Given the description of an element on the screen output the (x, y) to click on. 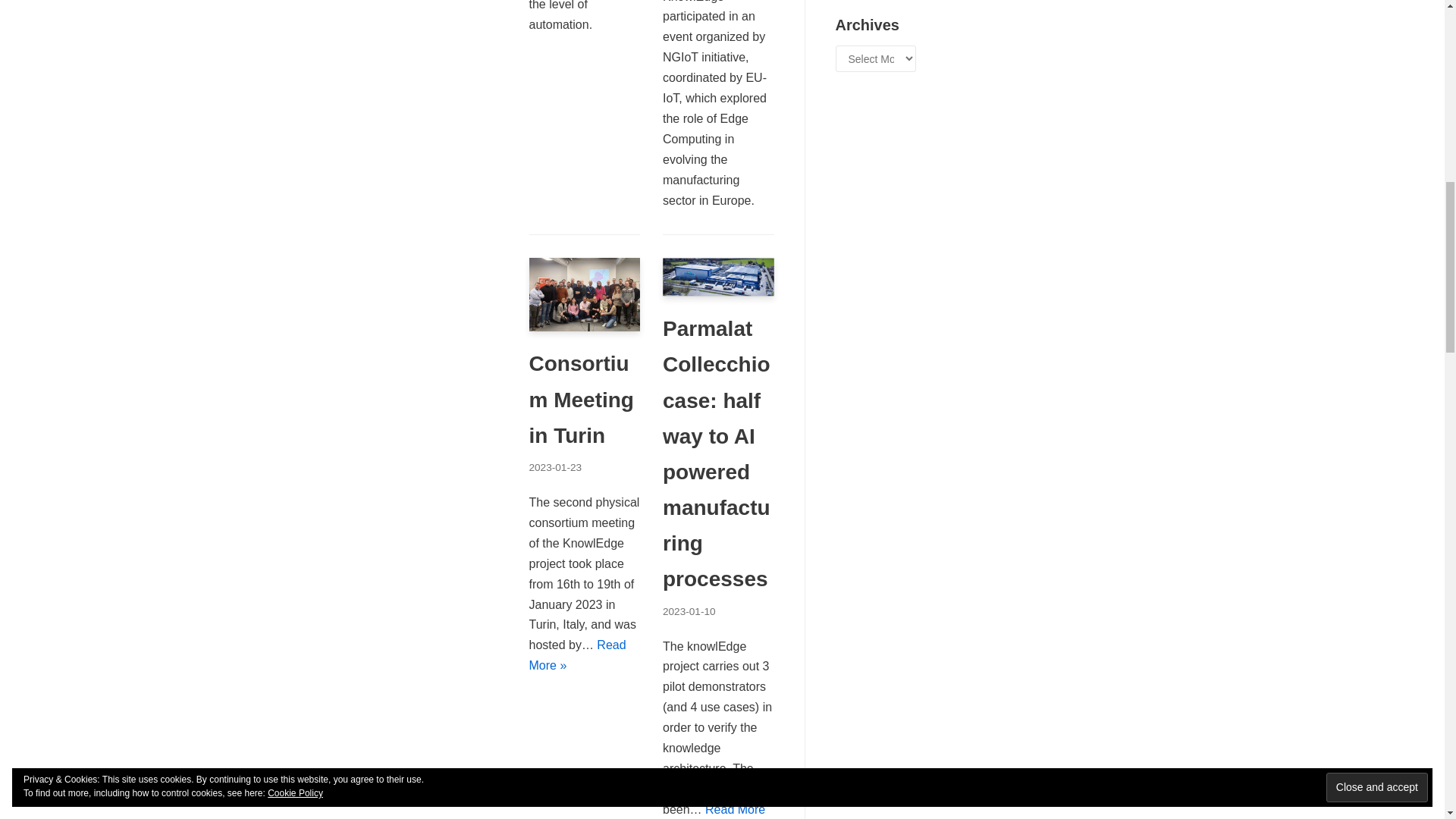
Consortium Meeting in Turin (584, 327)
